Given the description of an element on the screen output the (x, y) to click on. 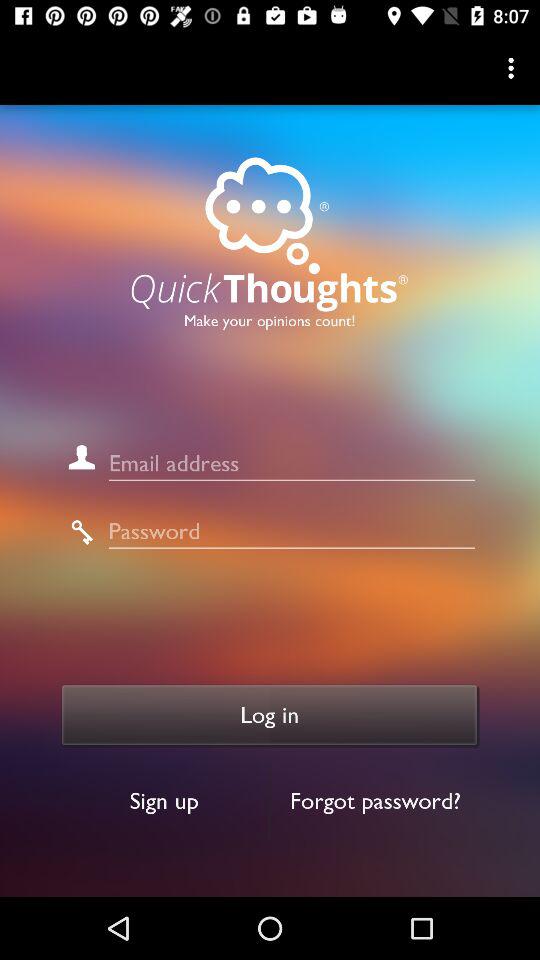
click the log in (270, 715)
